Given the description of an element on the screen output the (x, y) to click on. 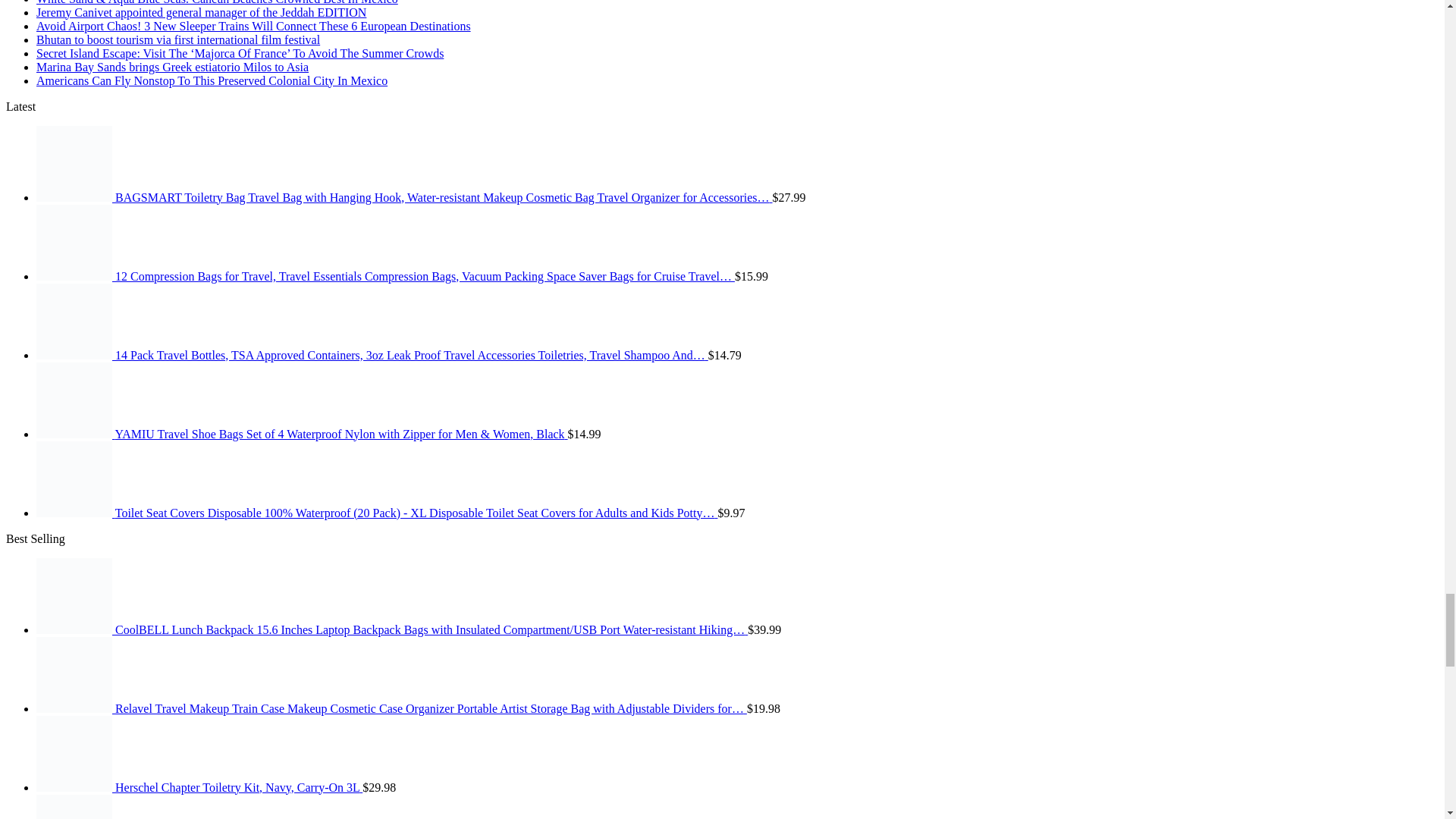
Marina Bay Sands brings Greek estiatorio Milos to Asia (172, 66)
